Given the description of an element on the screen output the (x, y) to click on. 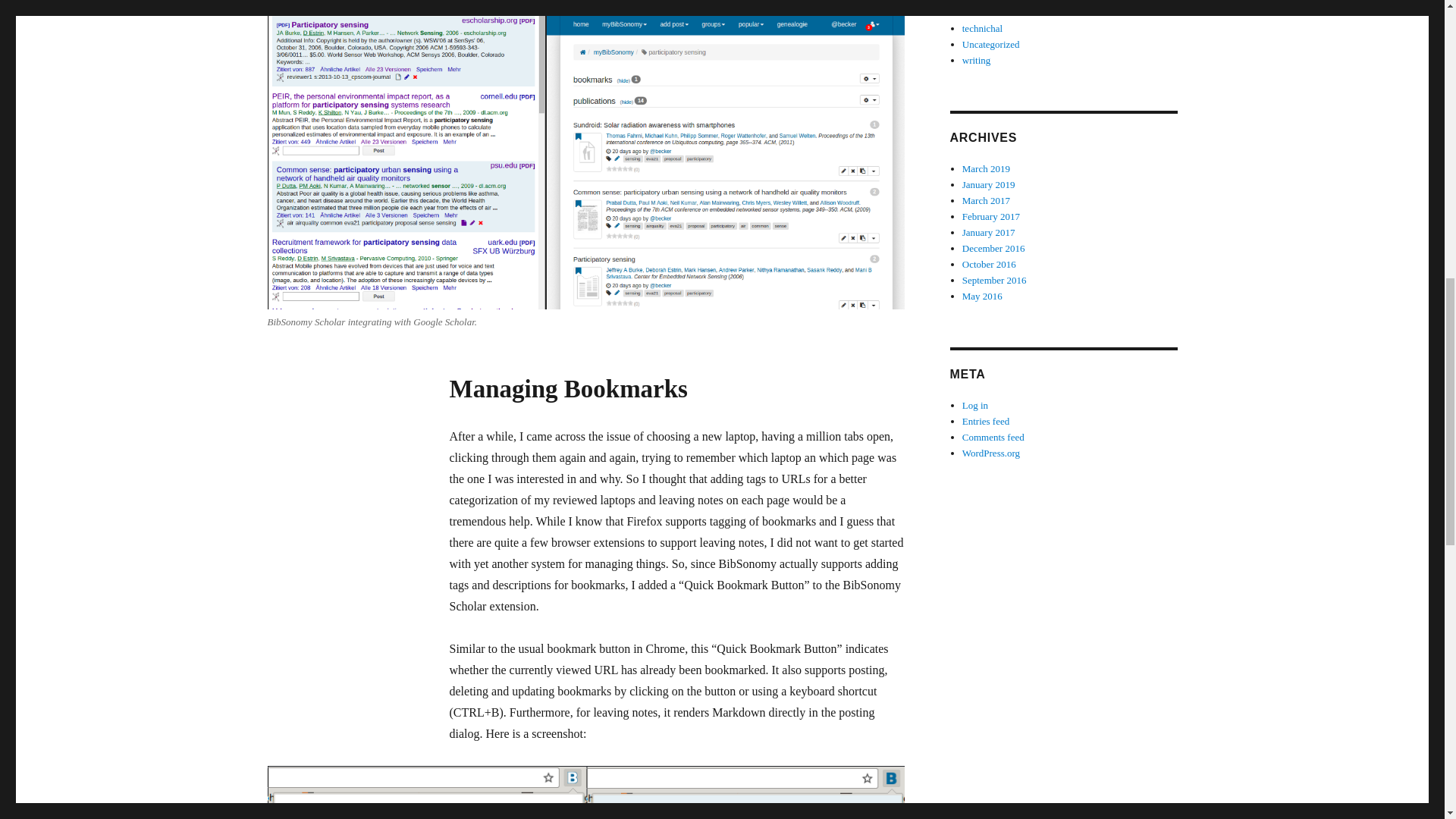
programming (989, 1)
technichal (982, 28)
science (976, 12)
Uncategorized (991, 43)
writing (976, 60)
March 2019 (986, 168)
